Given the description of an element on the screen output the (x, y) to click on. 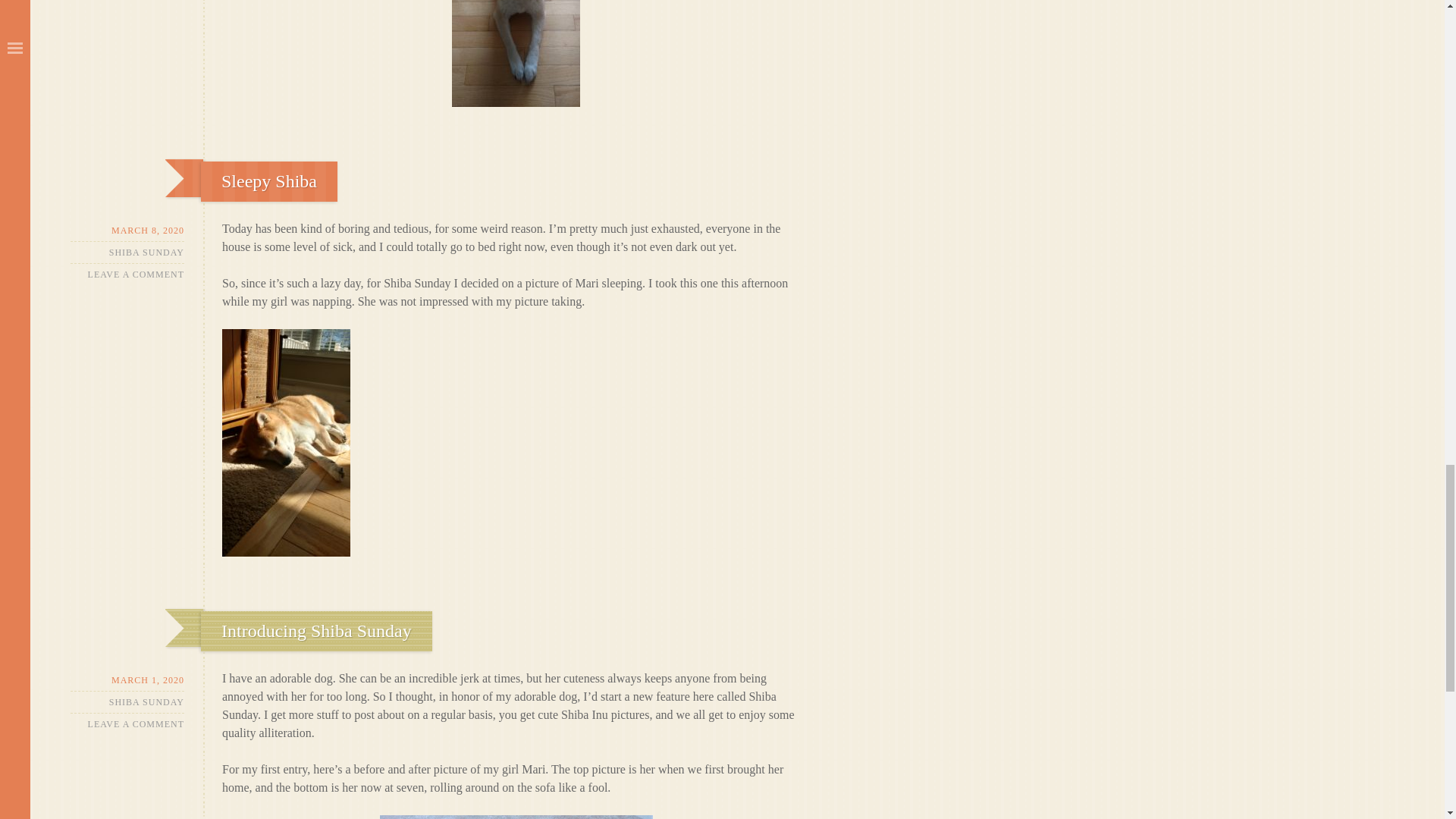
4:14 pm (126, 680)
6:55 pm (126, 230)
Sleepy Shiba (269, 180)
